Given the description of an element on the screen output the (x, y) to click on. 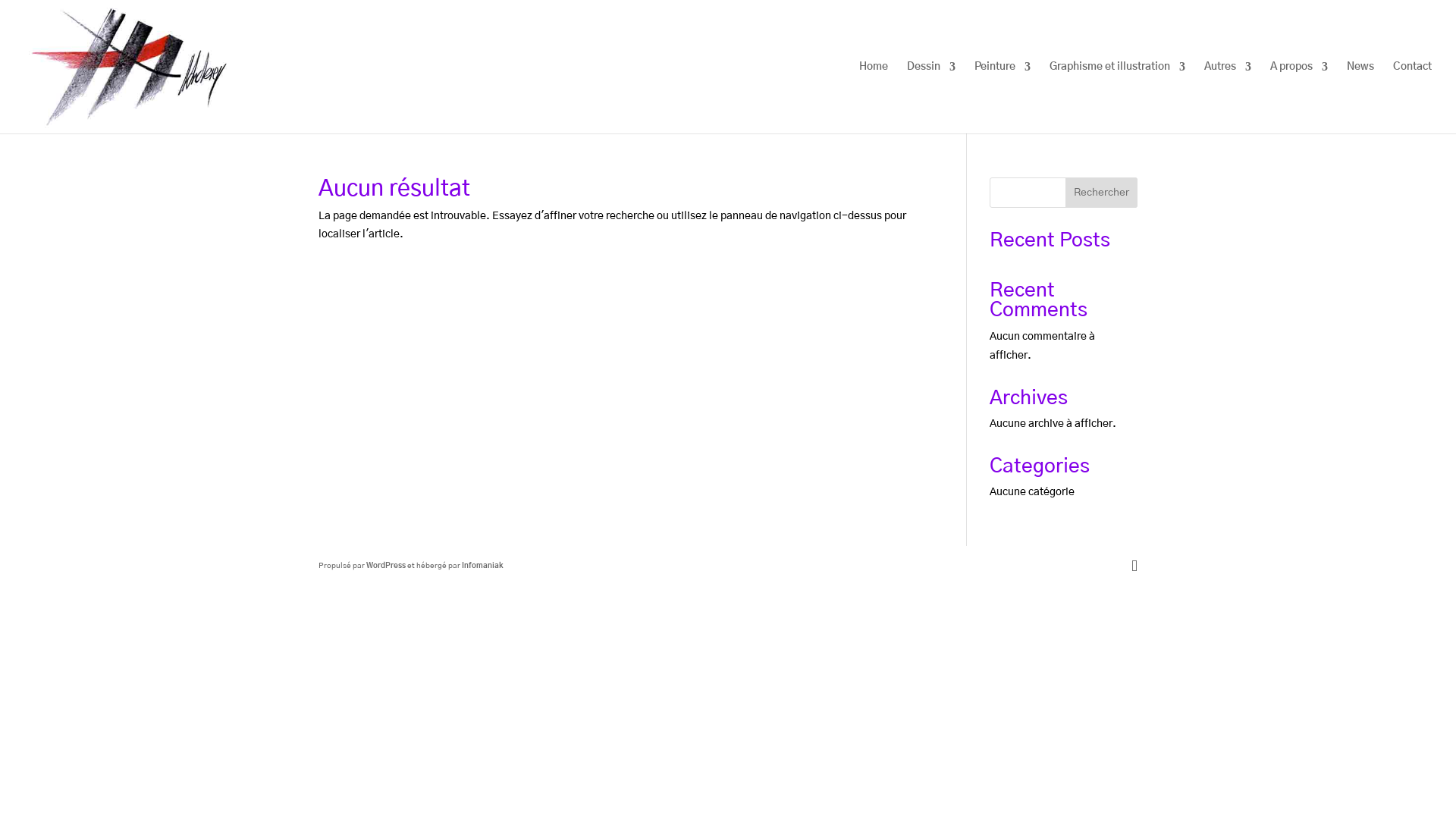
Home Element type: text (873, 97)
Autres Element type: text (1227, 97)
Contact Element type: text (1412, 97)
Dessin Element type: text (930, 97)
News Element type: text (1360, 97)
WordPress Element type: text (385, 565)
Rechercher Element type: text (1101, 192)
Infomaniak Element type: text (482, 565)
Peinture Element type: text (1002, 97)
Graphisme et illustration Element type: text (1117, 97)
A propos Element type: text (1298, 97)
